Given the description of an element on the screen output the (x, y) to click on. 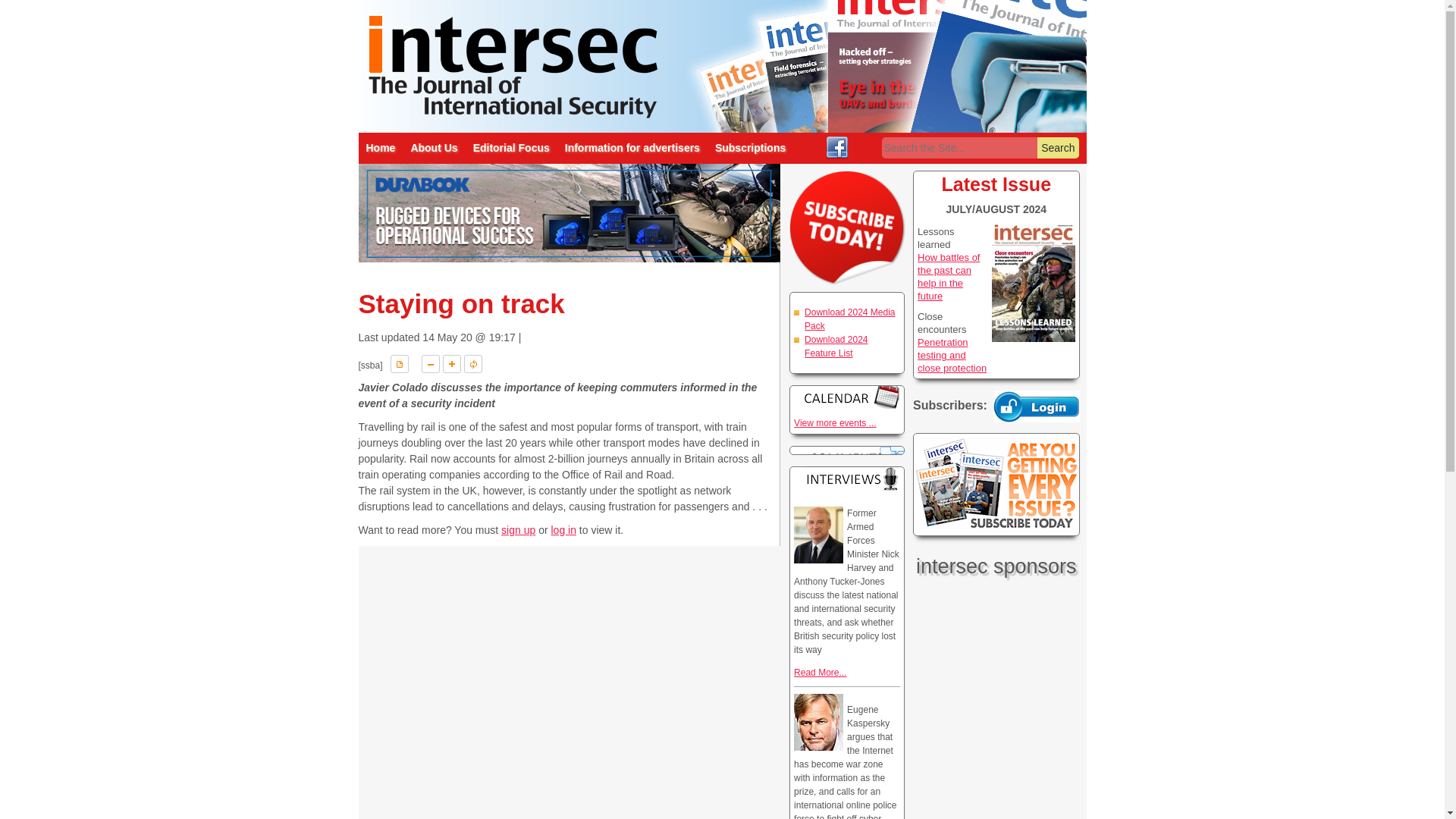
A- (430, 363)
Subscriptions (750, 147)
Download PDF (399, 363)
Information for advertisers (632, 147)
Editorial Focus (511, 147)
A (472, 363)
Download 2024 Media Pack (850, 319)
Our RSS RSS (862, 146)
Search (1057, 147)
Our RSS Feed (862, 146)
